Given the description of an element on the screen output the (x, y) to click on. 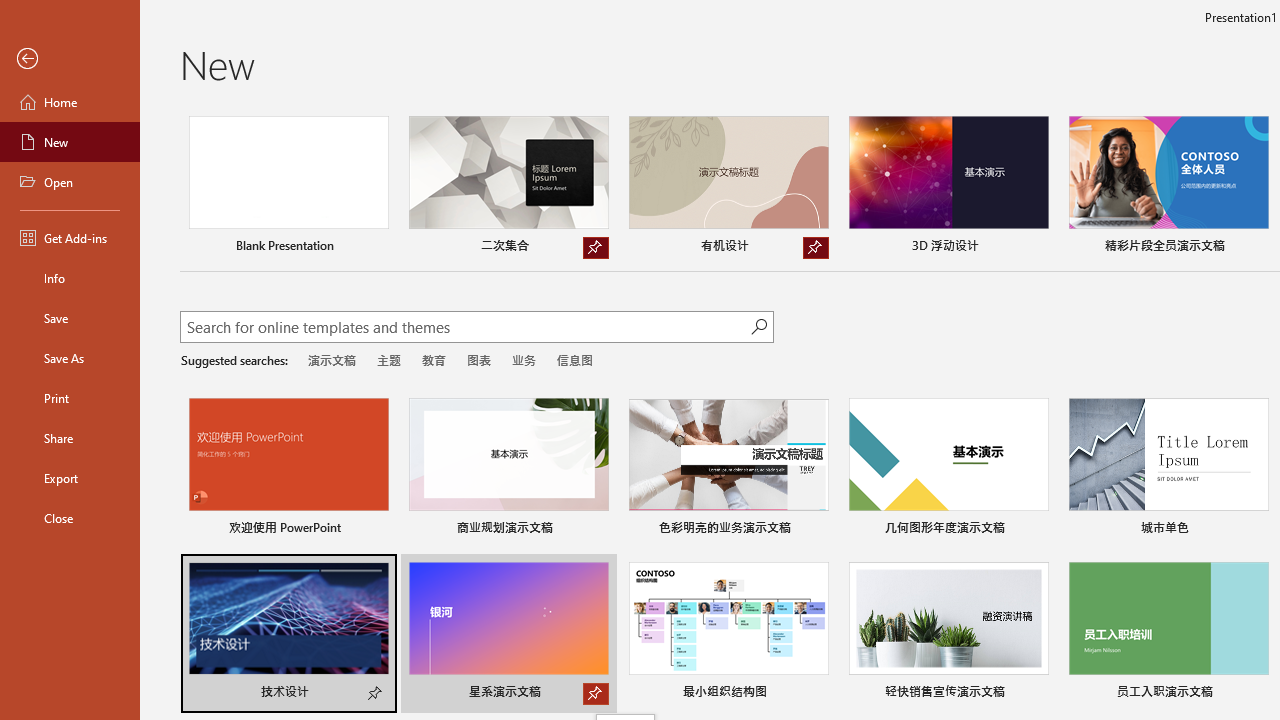
Info (69, 277)
Save As (69, 357)
Start searching (758, 326)
